Given the description of an element on the screen output the (x, y) to click on. 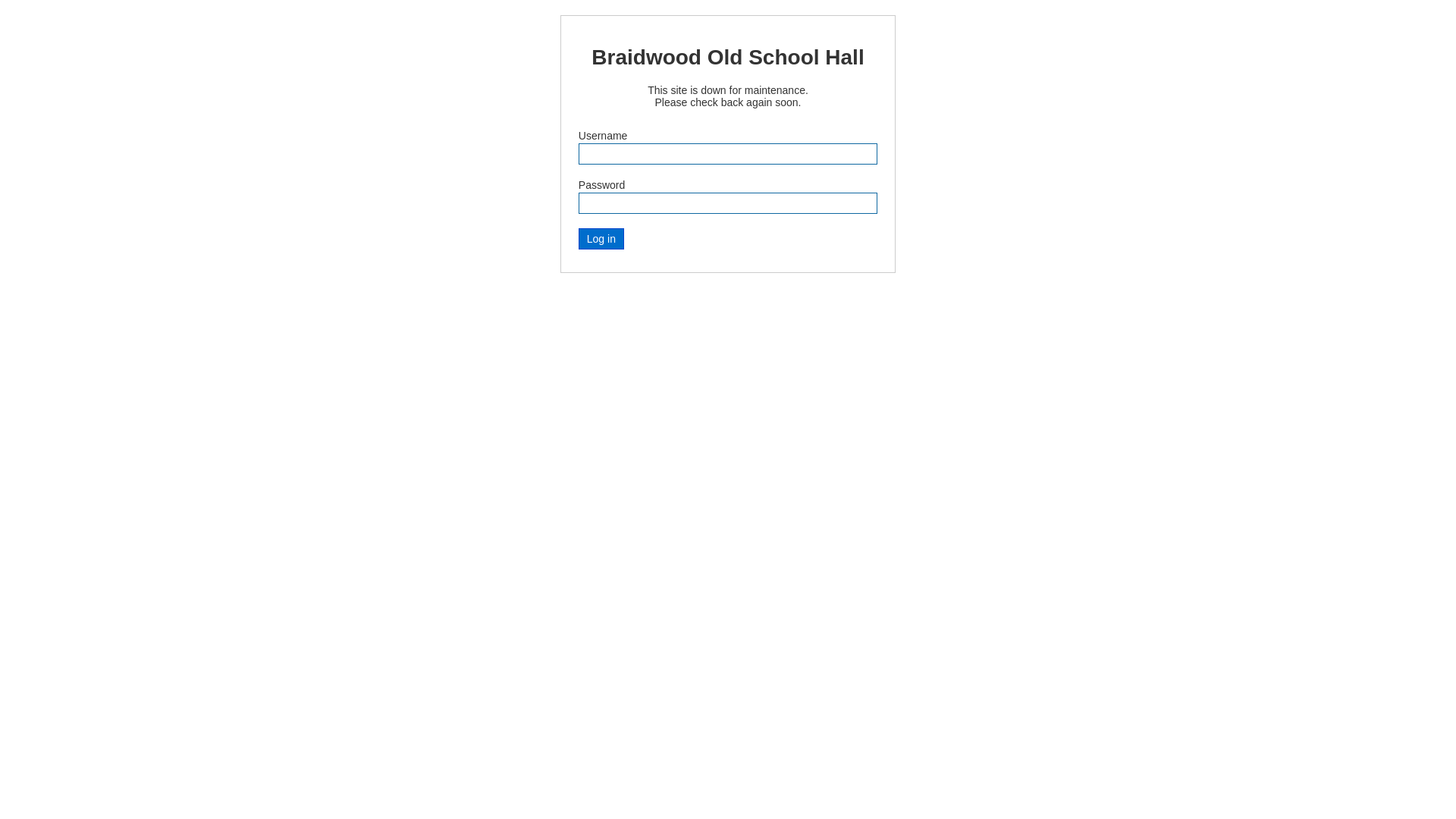
Log in Element type: text (601, 238)
